Given the description of an element on the screen output the (x, y) to click on. 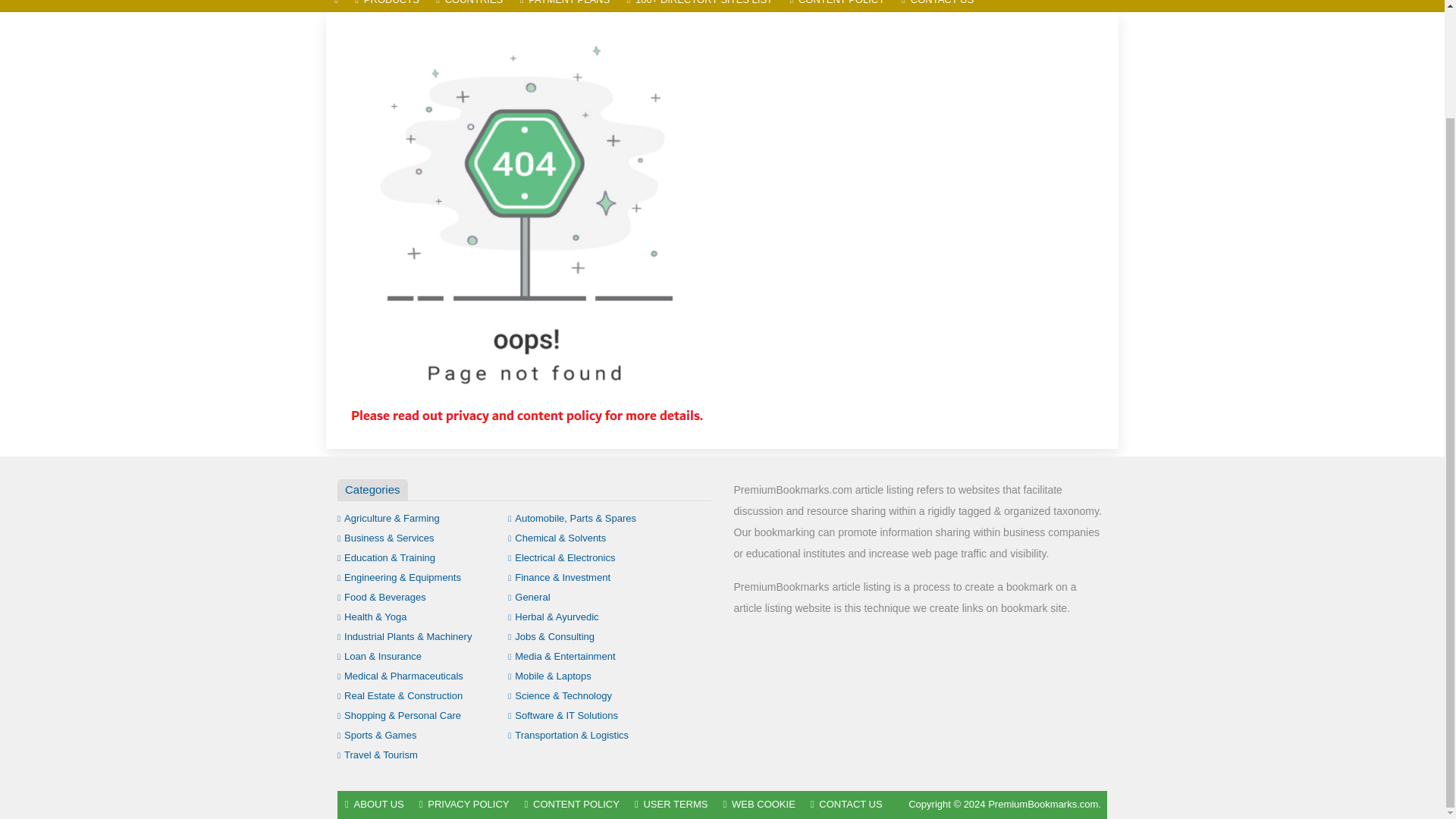
COUNTRIES (469, 6)
CONTACT US (937, 6)
General (529, 596)
CONTENT POLICY (836, 6)
PAYMENT PLANS (564, 6)
HOME (336, 6)
PRODUCTS (387, 6)
